Given the description of an element on the screen output the (x, y) to click on. 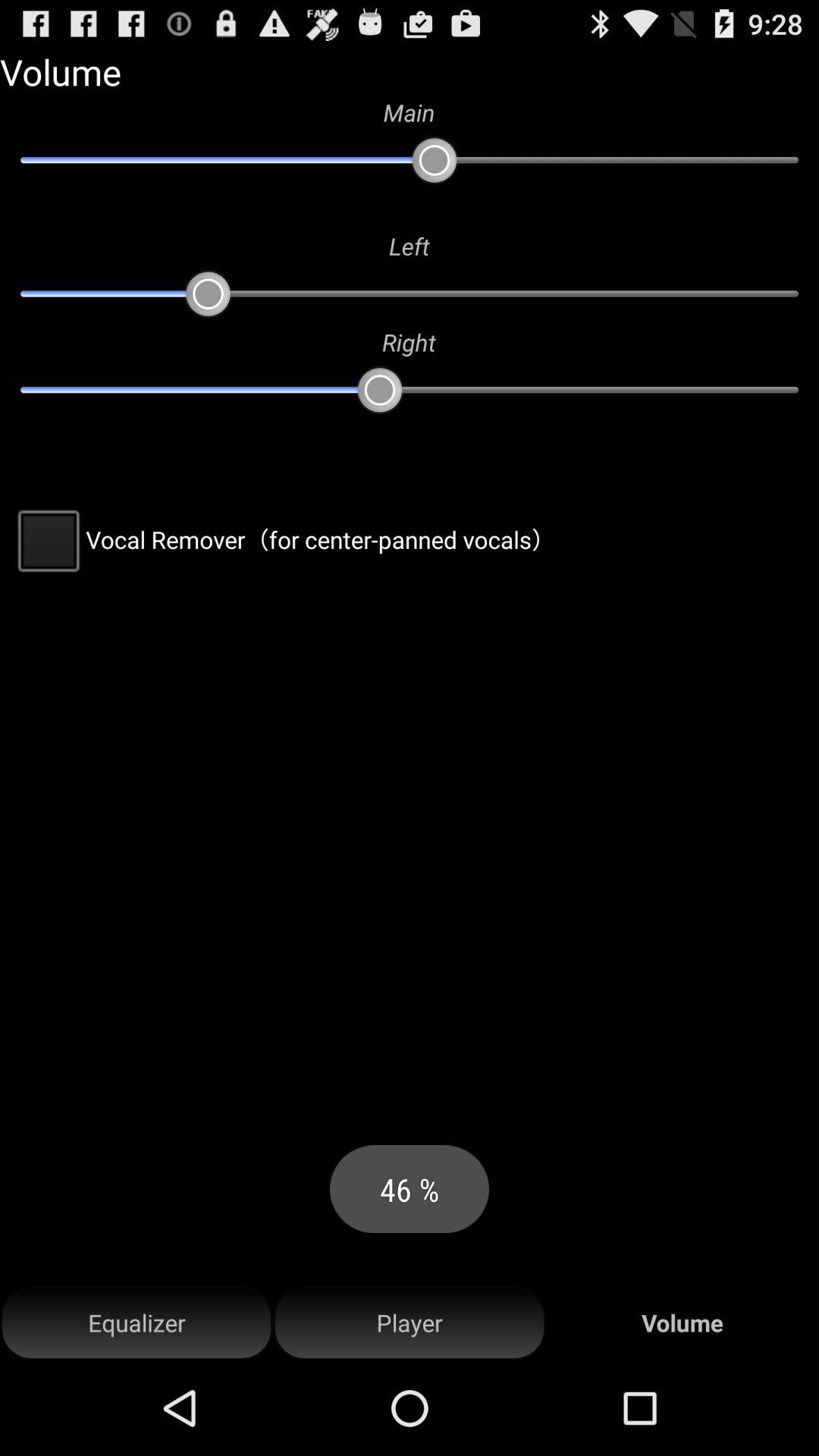
flip until the player (409, 1323)
